Given the description of an element on the screen output the (x, y) to click on. 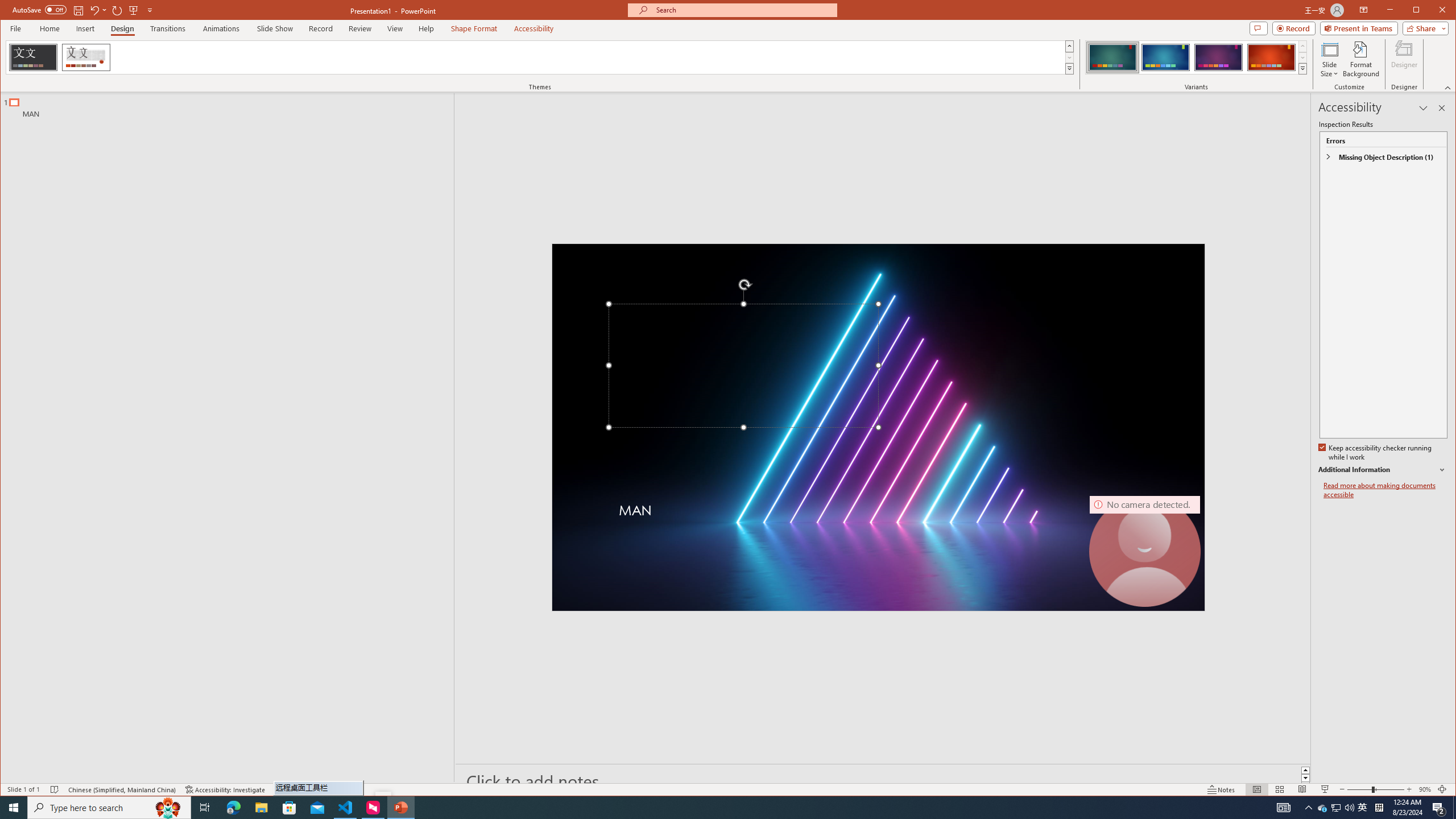
Ion Variant 3 (1218, 57)
Ion Variant 1 (1112, 57)
